Given the description of an element on the screen output the (x, y) to click on. 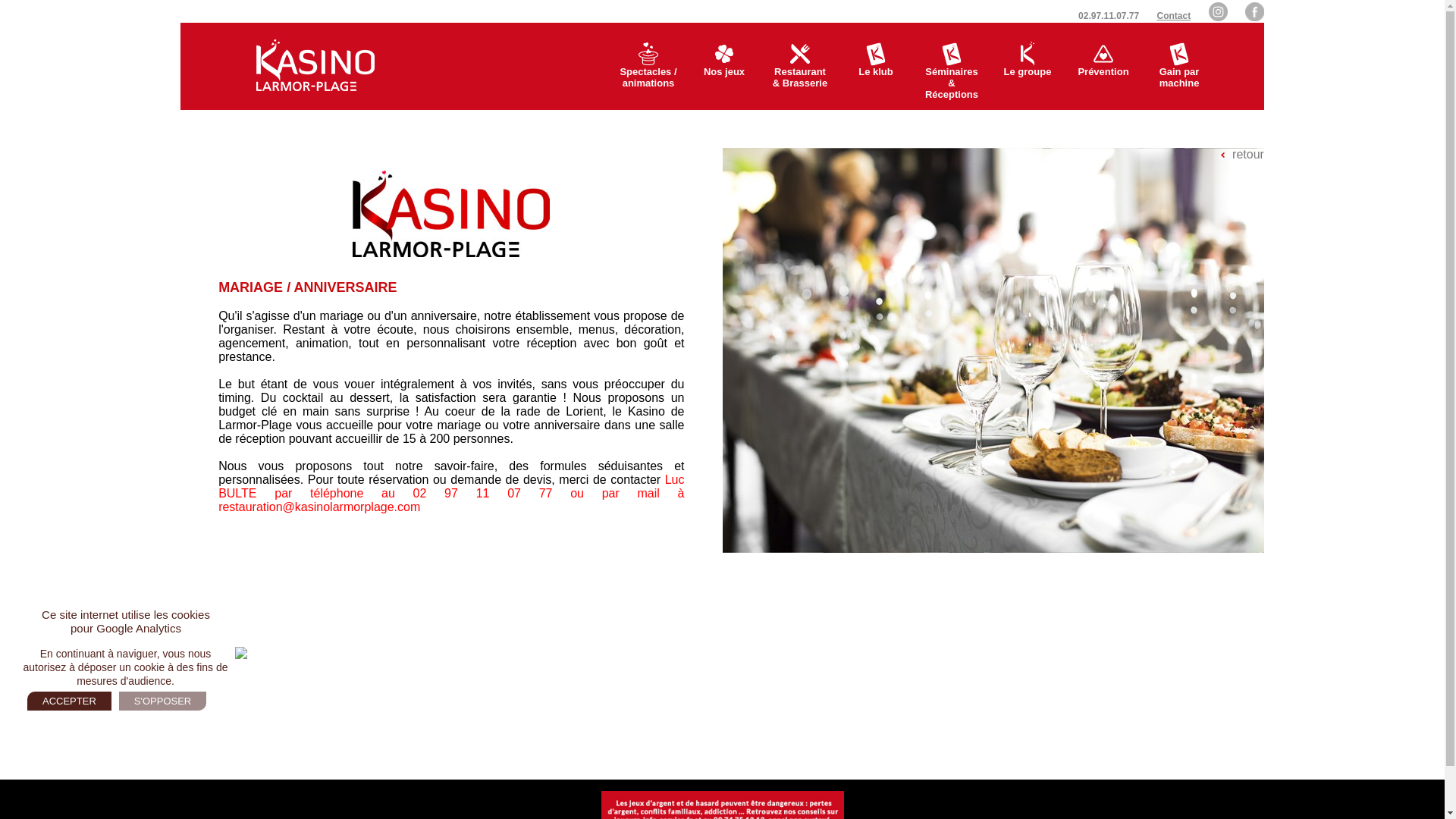
Gain par machine Element type: text (1179, 65)
ACCEPTER Element type: text (69, 700)
Spectacles / animations Element type: text (648, 65)
Restaurant & Brasserie Element type: text (799, 65)
Nos jeux Element type: text (724, 65)
Contact Element type: text (1174, 15)
S'OPPOSER Element type: text (162, 700)
Le klub Element type: text (875, 65)
Le groupe Element type: text (1027, 65)
retour Element type: text (1242, 154)
